Given the description of an element on the screen output the (x, y) to click on. 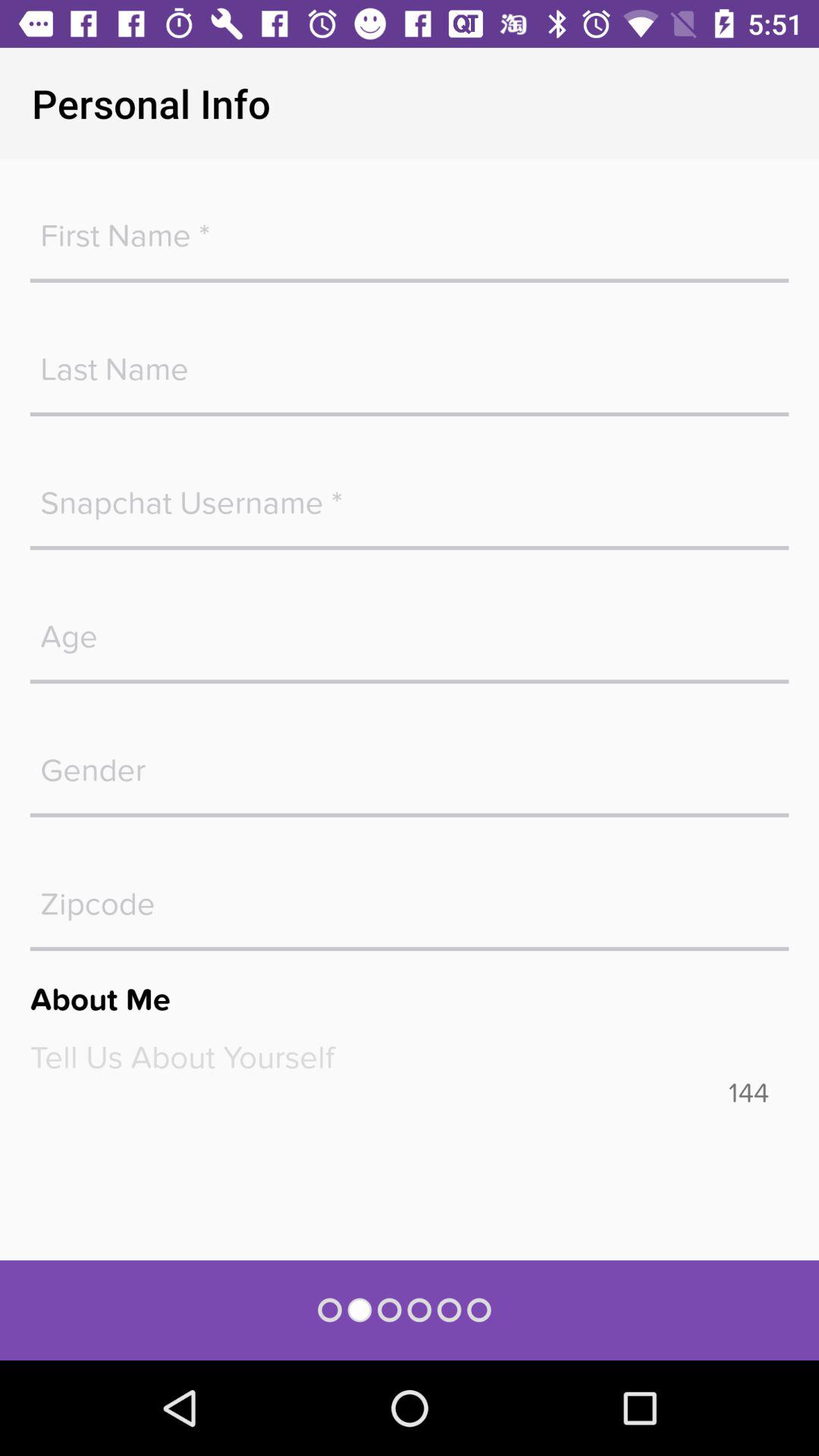
snapcha username box (409, 495)
